Given the description of an element on the screen output the (x, y) to click on. 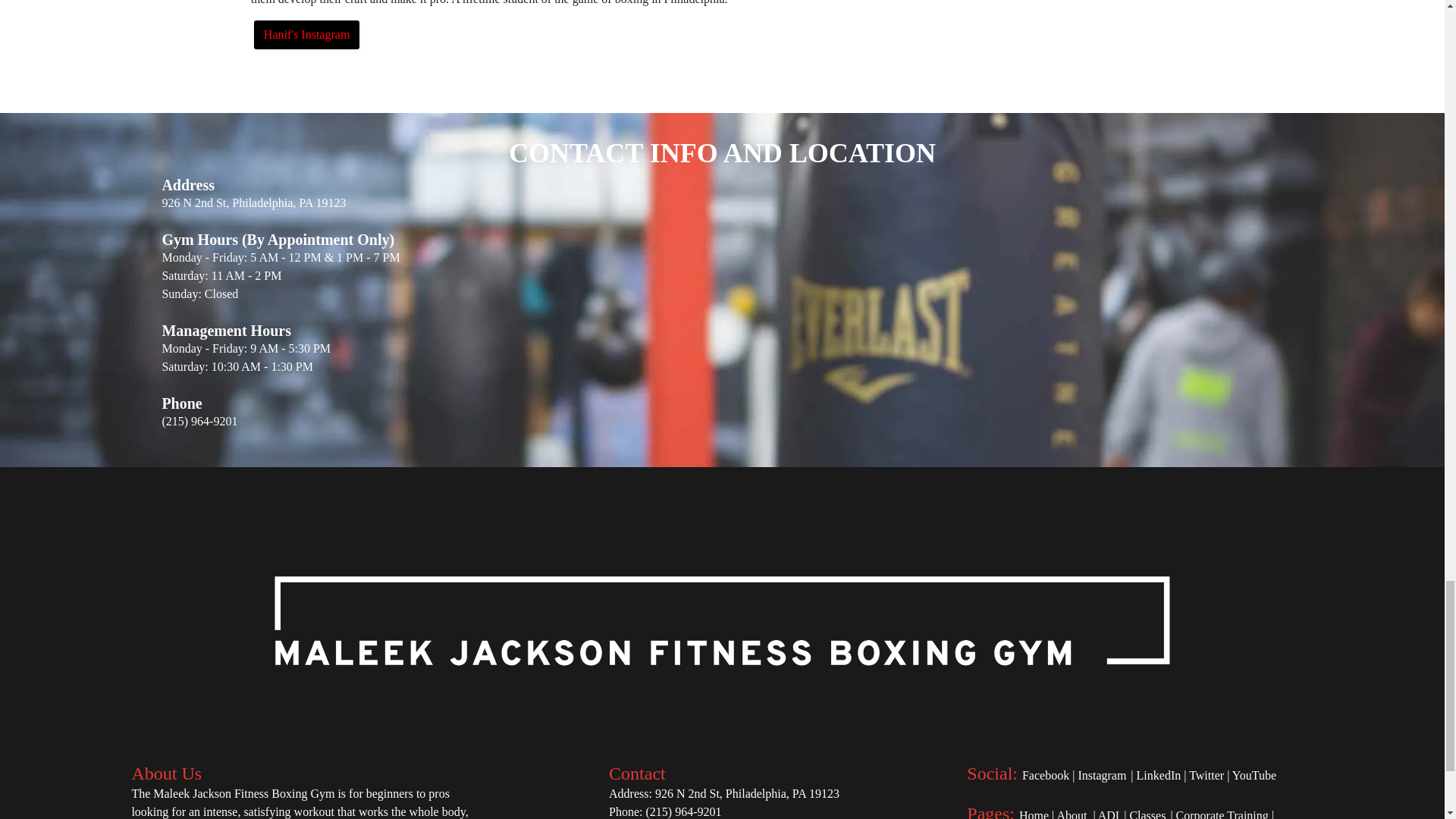
Hanif's Instagram (306, 34)
926 N 2nd St, Philadelphia, PA 19123 (253, 202)
Instagram (1101, 775)
About (1071, 814)
Twitter (1206, 775)
Corporate Training (1222, 814)
Home (1033, 814)
Classes (1147, 814)
Facebook (1045, 775)
926 N 2nd St, Philadelphia, PA (730, 793)
YouTube (1253, 775)
ADI (1108, 814)
LinkedIn (1158, 775)
